Given the description of an element on the screen output the (x, y) to click on. 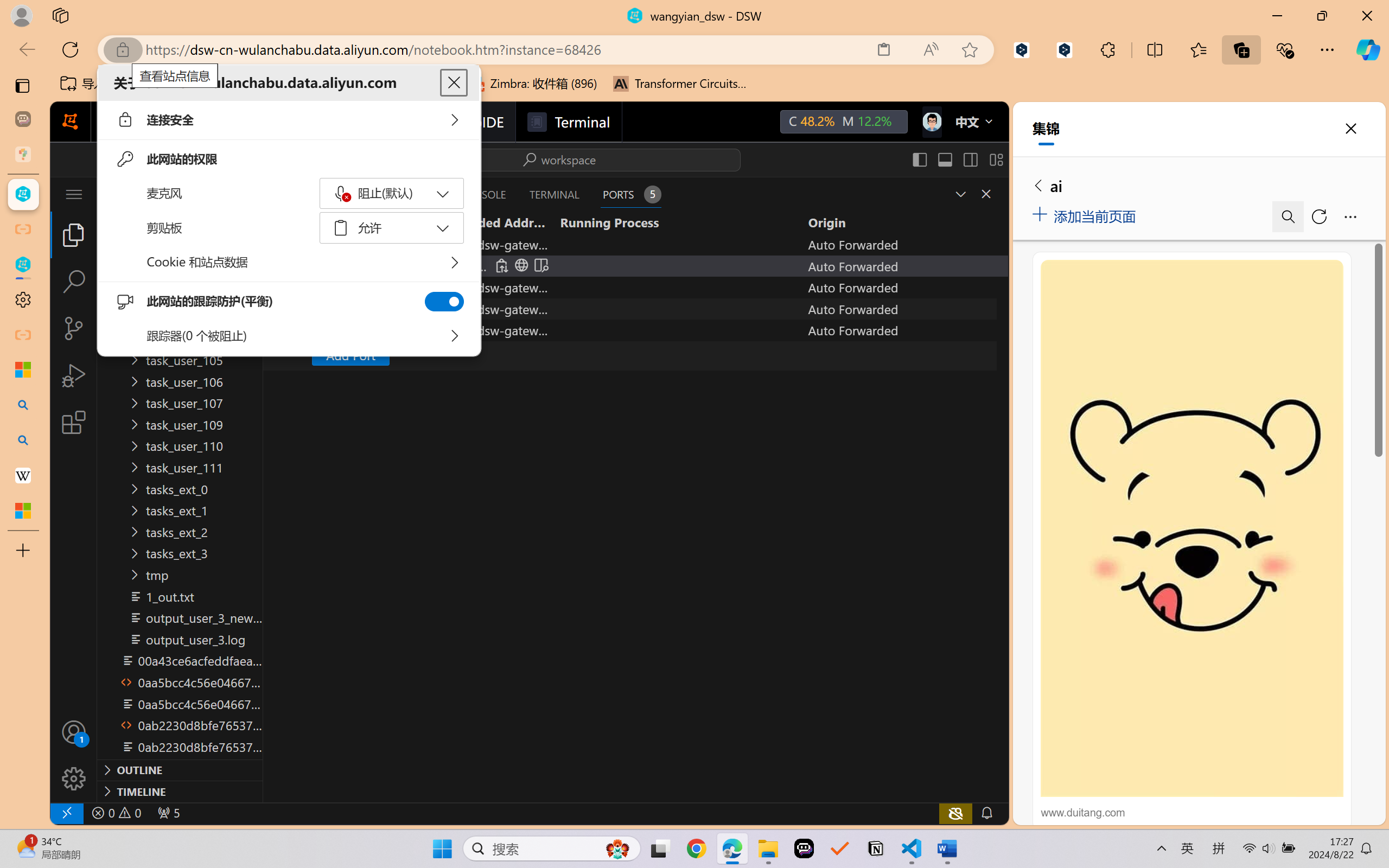
icon (930, 119)
copilot-notconnected, Copilot error (click for details) (955, 812)
Customize Layout... (995, 159)
